Given the description of an element on the screen output the (x, y) to click on. 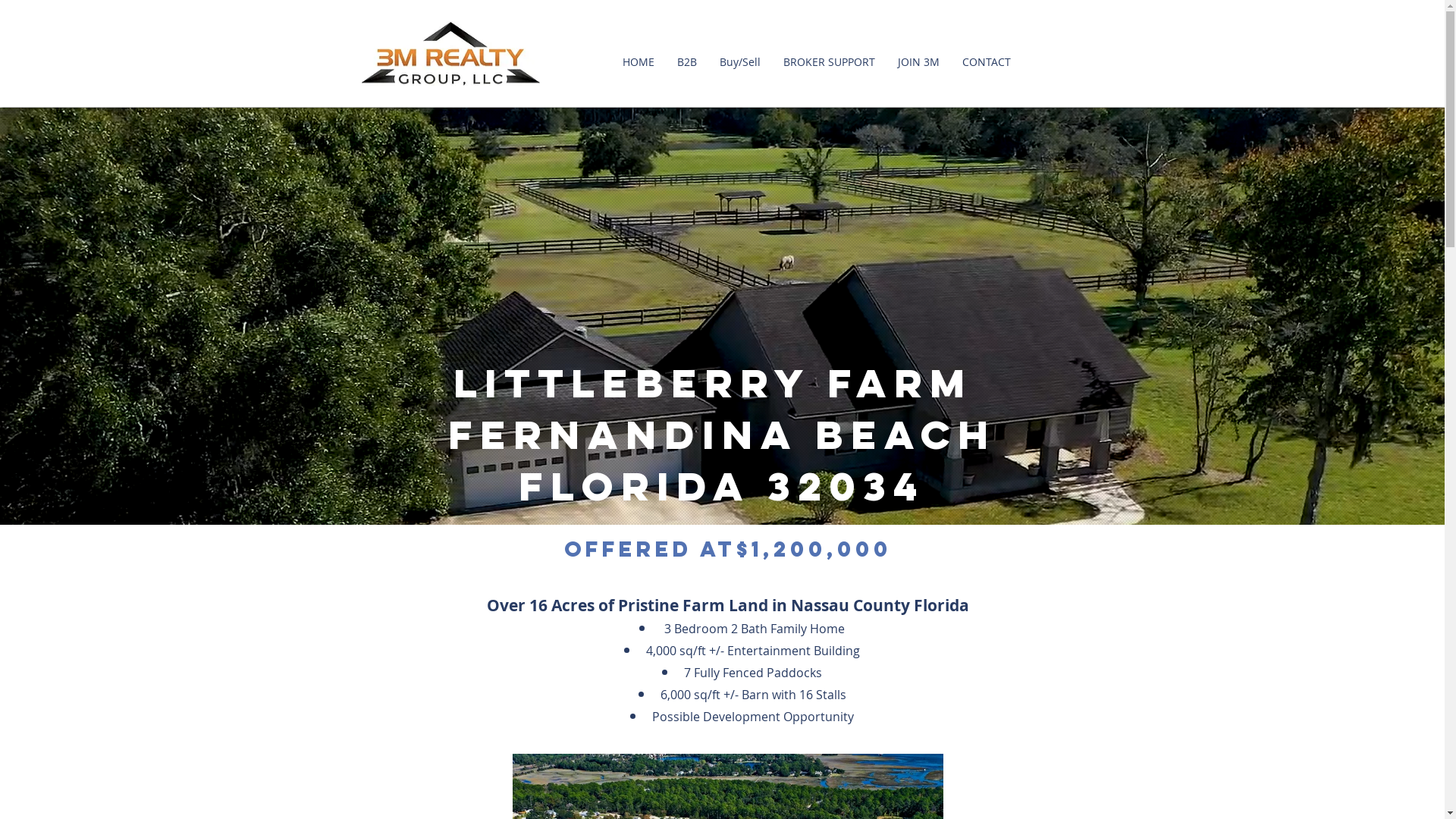
BROKER SUPPORT Element type: text (828, 61)
B2B Element type: text (686, 61)
HOME Element type: text (638, 61)
CONTACT Element type: text (986, 61)
JOIN 3M Element type: text (917, 61)
